Given the description of an element on the screen output the (x, y) to click on. 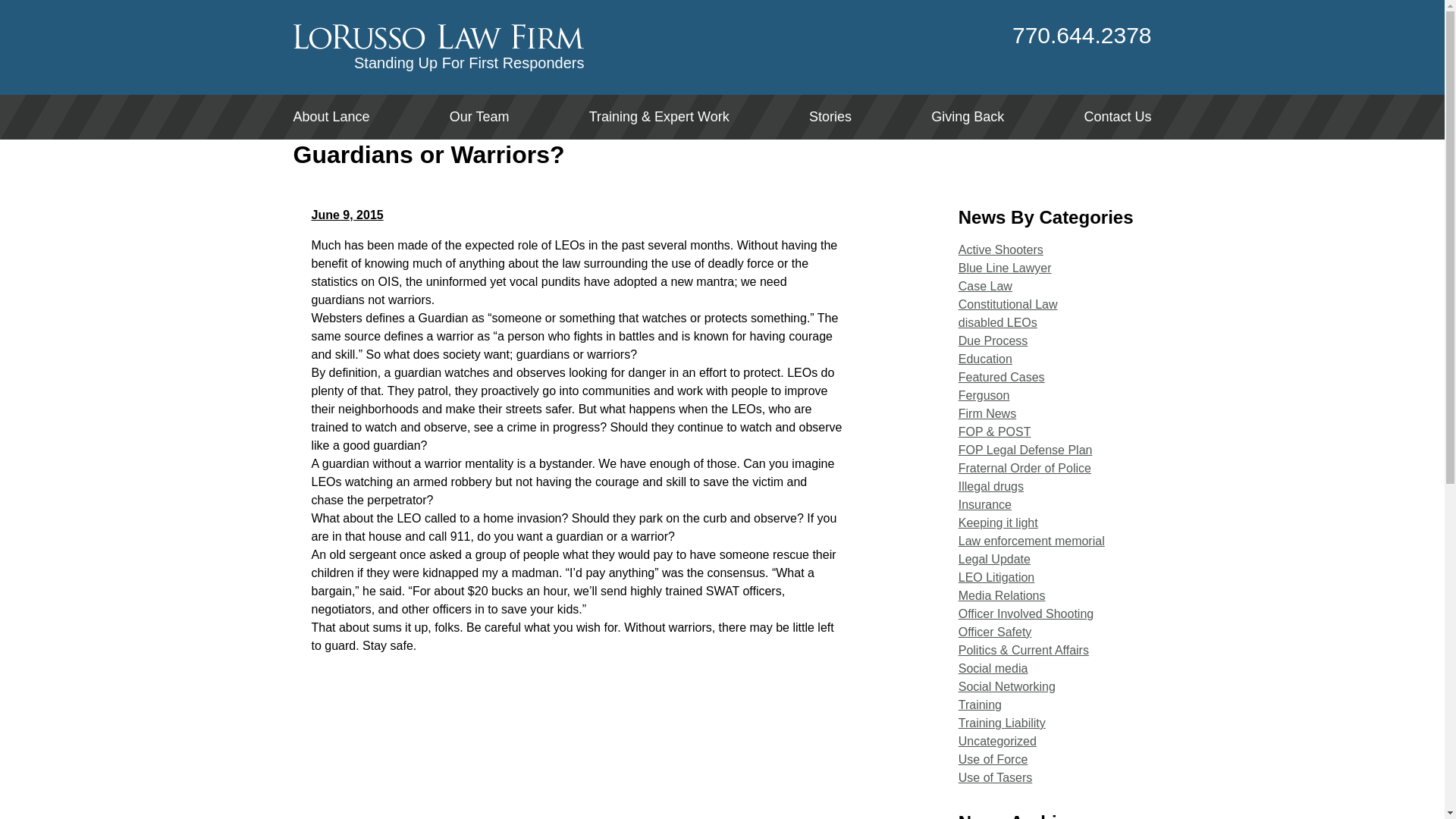
Insurance (984, 504)
disabled LEOs (997, 322)
Officer Involved Shooting (1025, 613)
Officer Safety (995, 631)
Featured Cases (1001, 377)
Education (984, 358)
Keeping it light (998, 522)
Firm News (987, 413)
Due Process (992, 340)
Active Shooters (1000, 249)
Legal Update (994, 558)
Stories (830, 117)
Constitutional Law (1008, 304)
About Lance (330, 117)
Illegal drugs (990, 486)
